Given the description of an element on the screen output the (x, y) to click on. 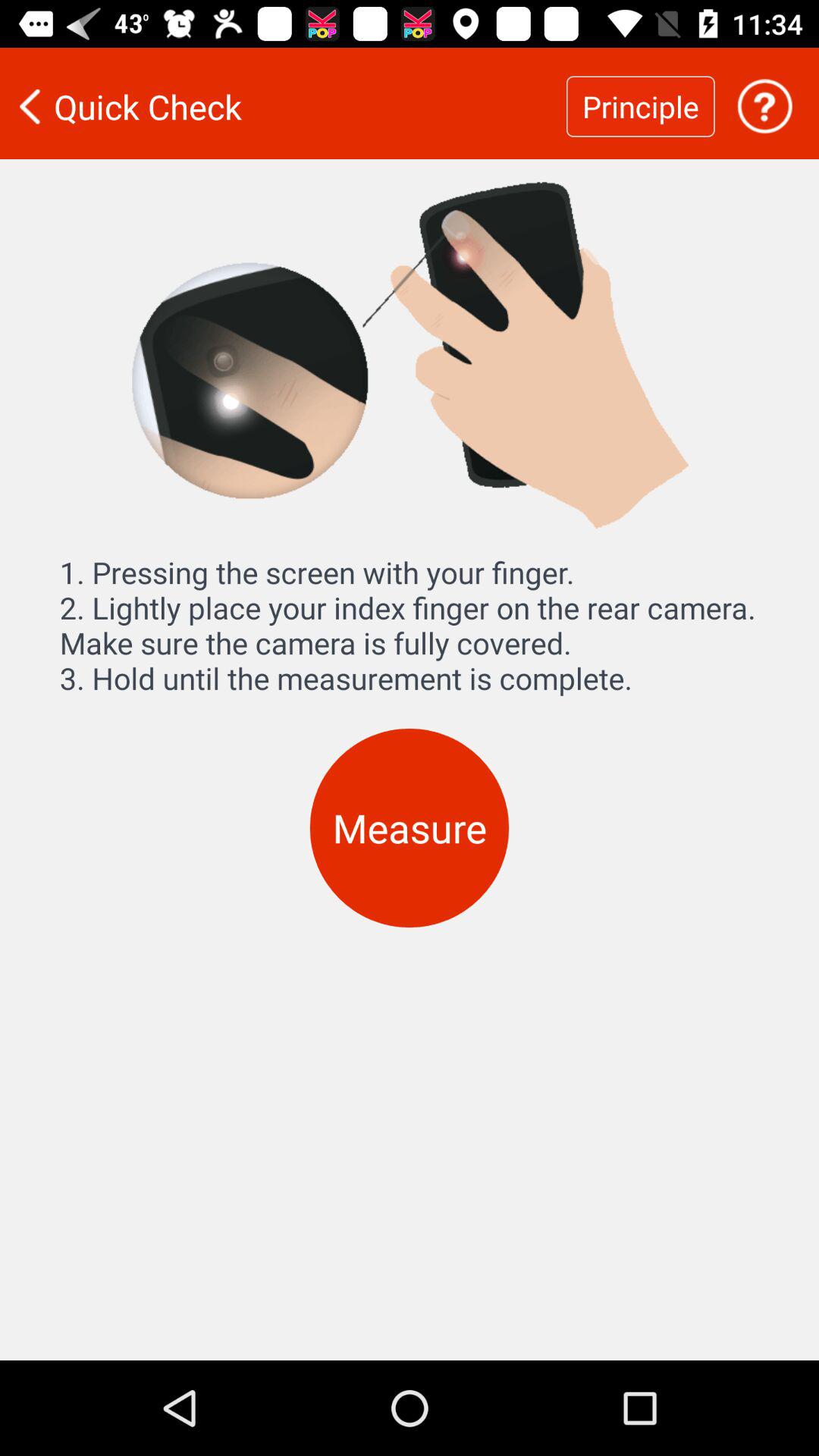
press icon below the 1 pressing the item (409, 827)
